Given the description of an element on the screen output the (x, y) to click on. 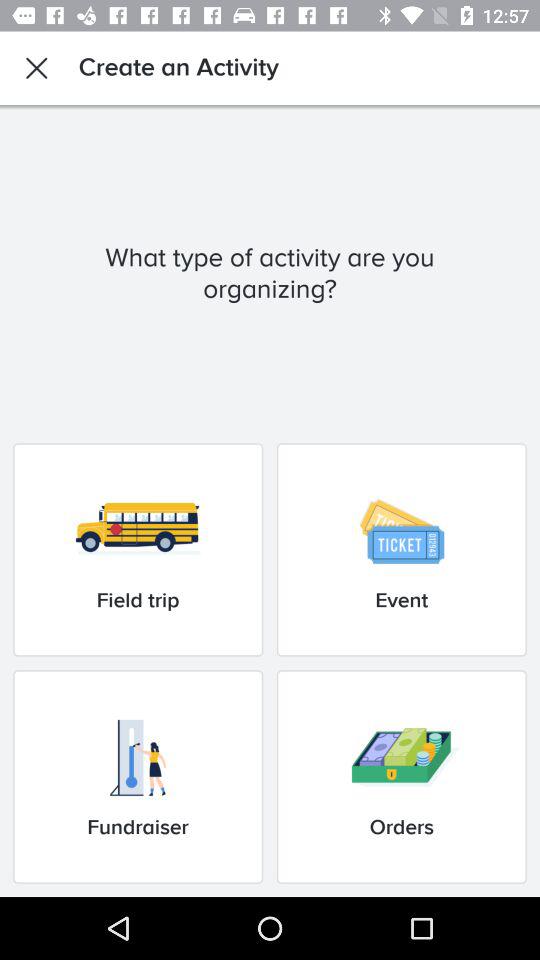
select the item to the left of create an activity app (36, 68)
